Given the description of an element on the screen output the (x, y) to click on. 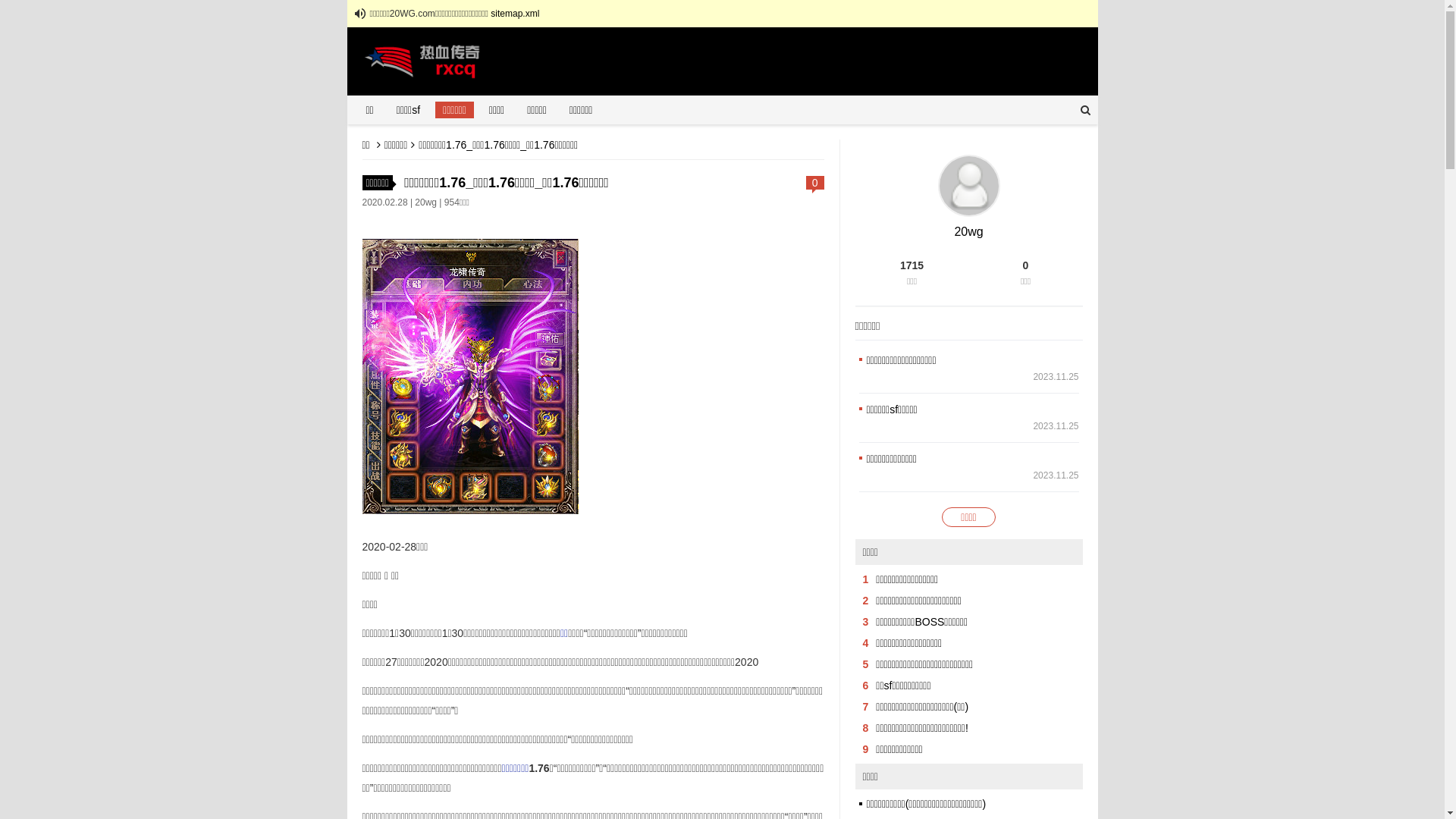
20wg Element type: text (967, 231)
20wg Element type: text (425, 202)
sitemap.xml Element type: text (514, 13)
0 Element type: text (815, 182)
